Given the description of an element on the screen output the (x, y) to click on. 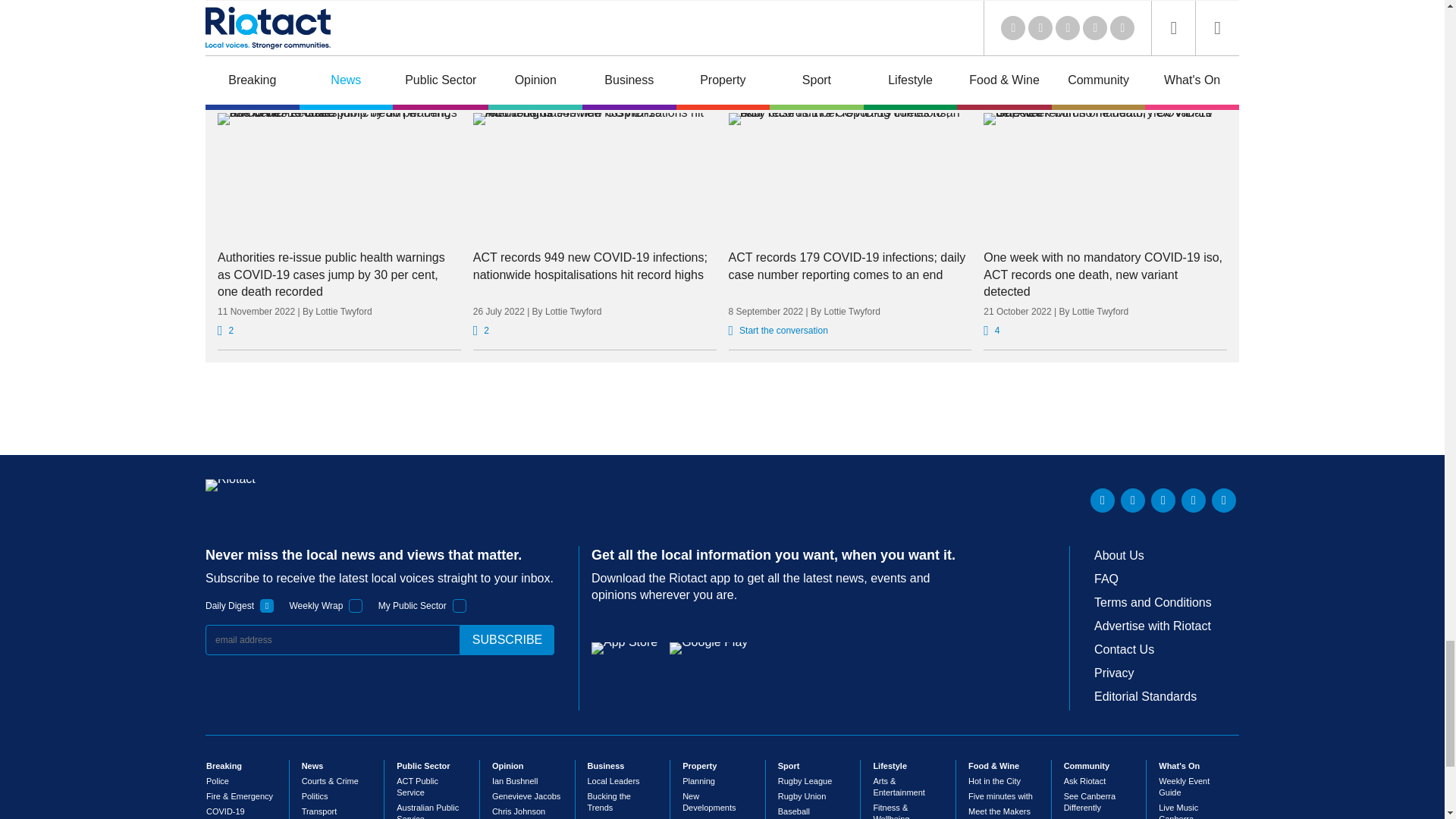
Twitter (1132, 500)
1 (266, 605)
LinkedIn (1102, 500)
1 (355, 605)
1 (458, 605)
subscribe (507, 639)
